Given the description of an element on the screen output the (x, y) to click on. 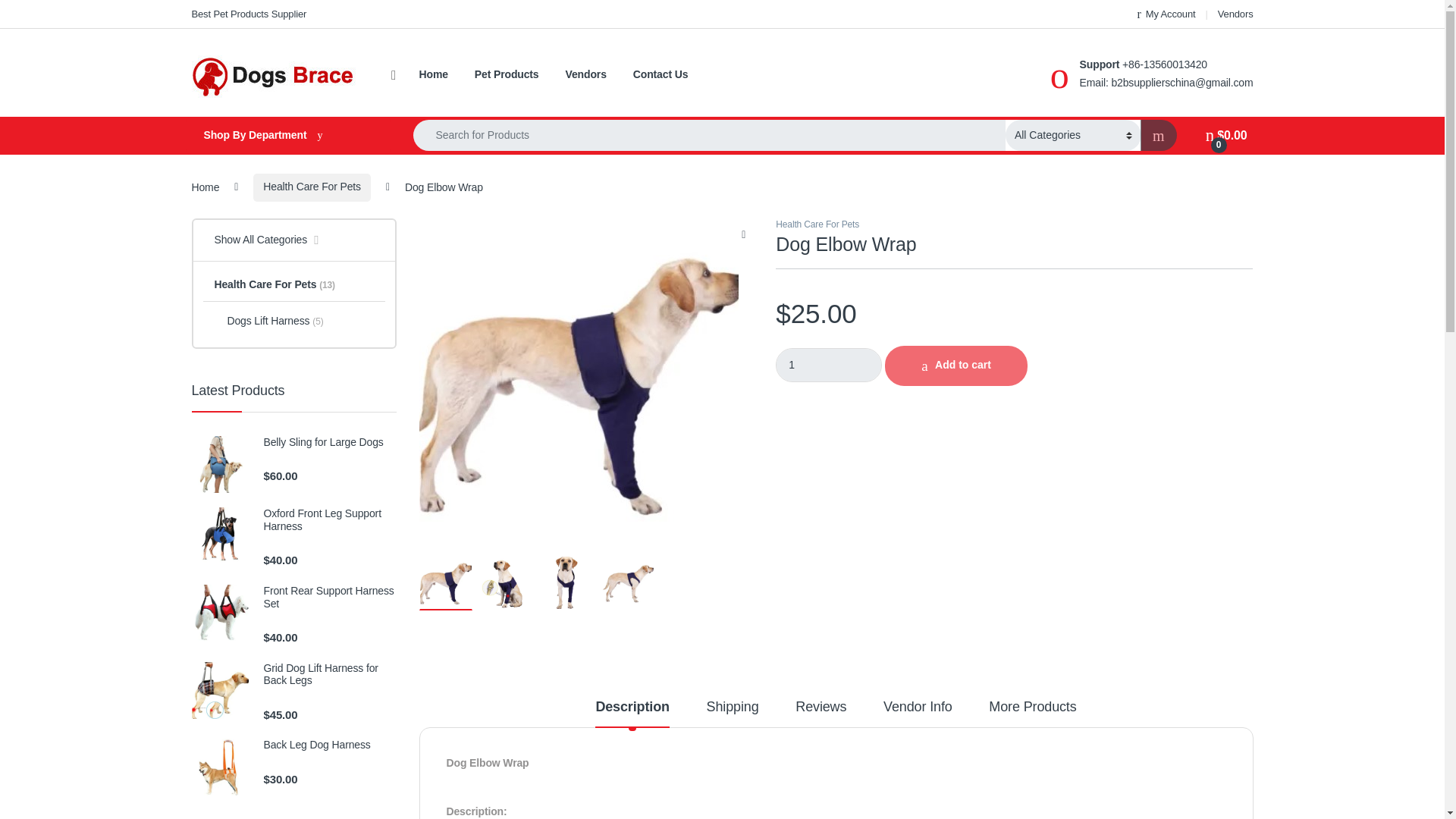
My Account (1166, 13)
Vendors (1235, 13)
1 (829, 365)
Vendors (1235, 13)
My Account (1166, 13)
Best Pet Products Supplier (247, 13)
Best Pet Products Supplier (247, 13)
